Given the description of an element on the screen output the (x, y) to click on. 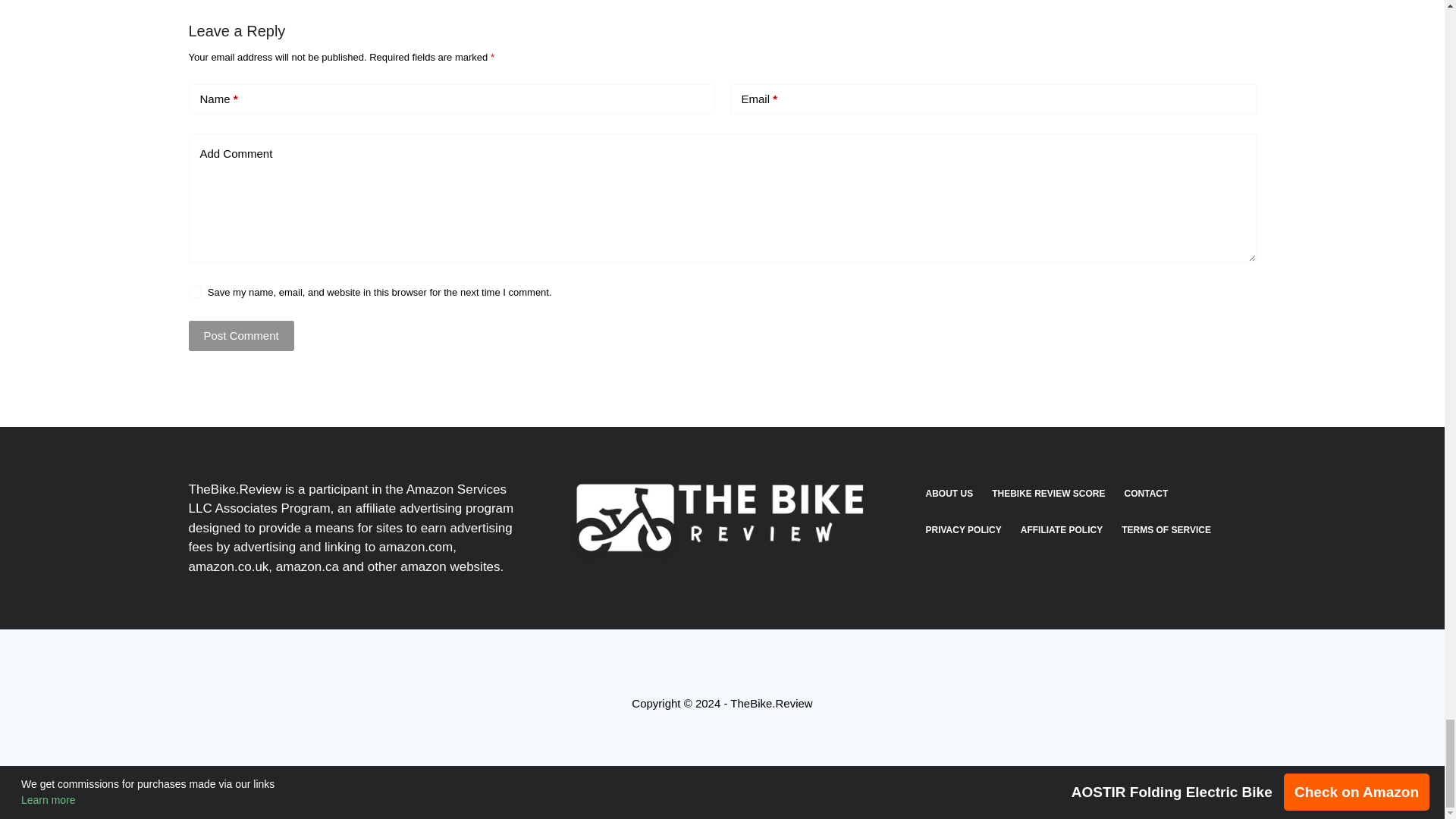
yes (193, 291)
